Given the description of an element on the screen output the (x, y) to click on. 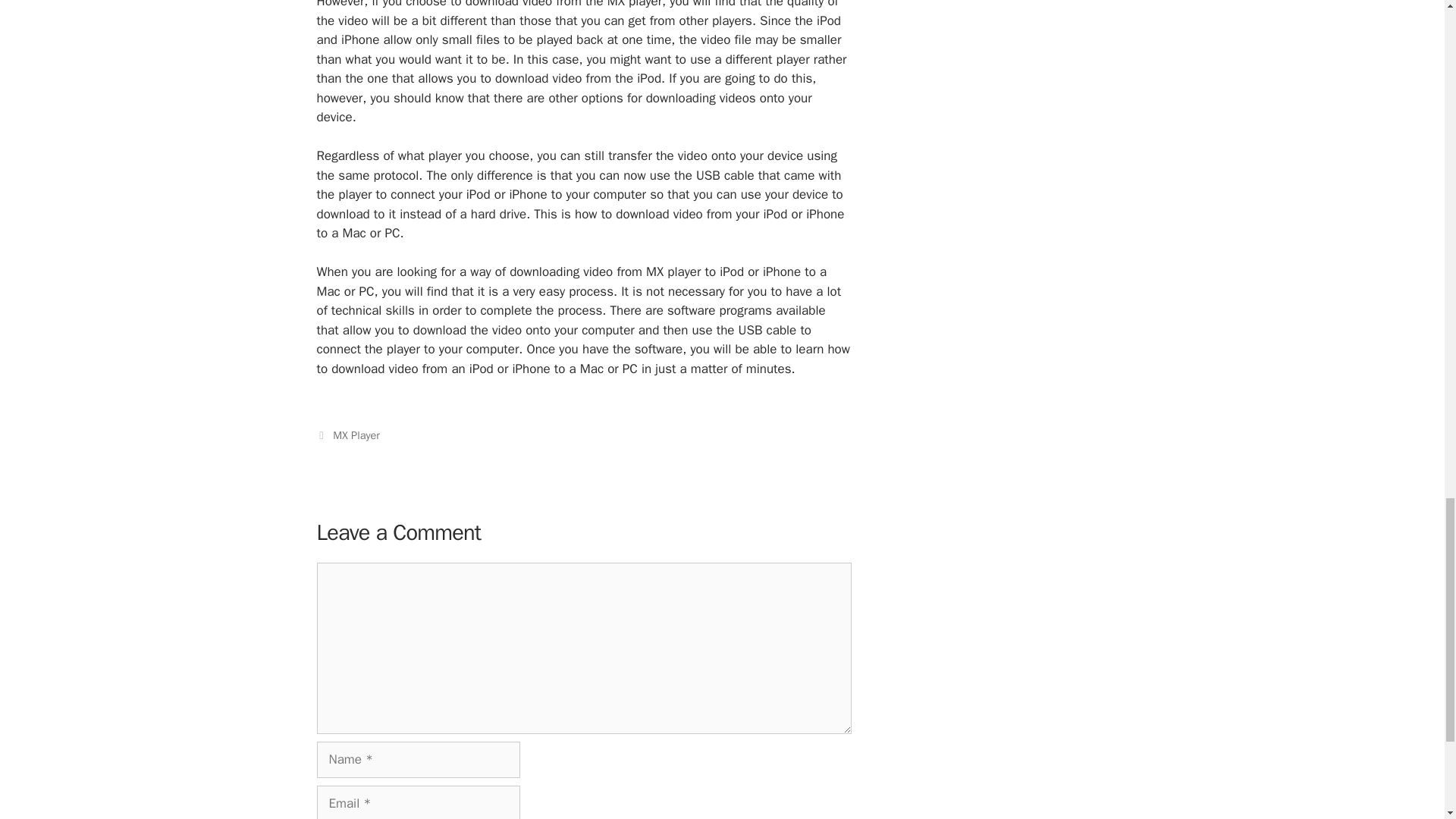
MX Player (356, 435)
